Given the description of an element on the screen output the (x, y) to click on. 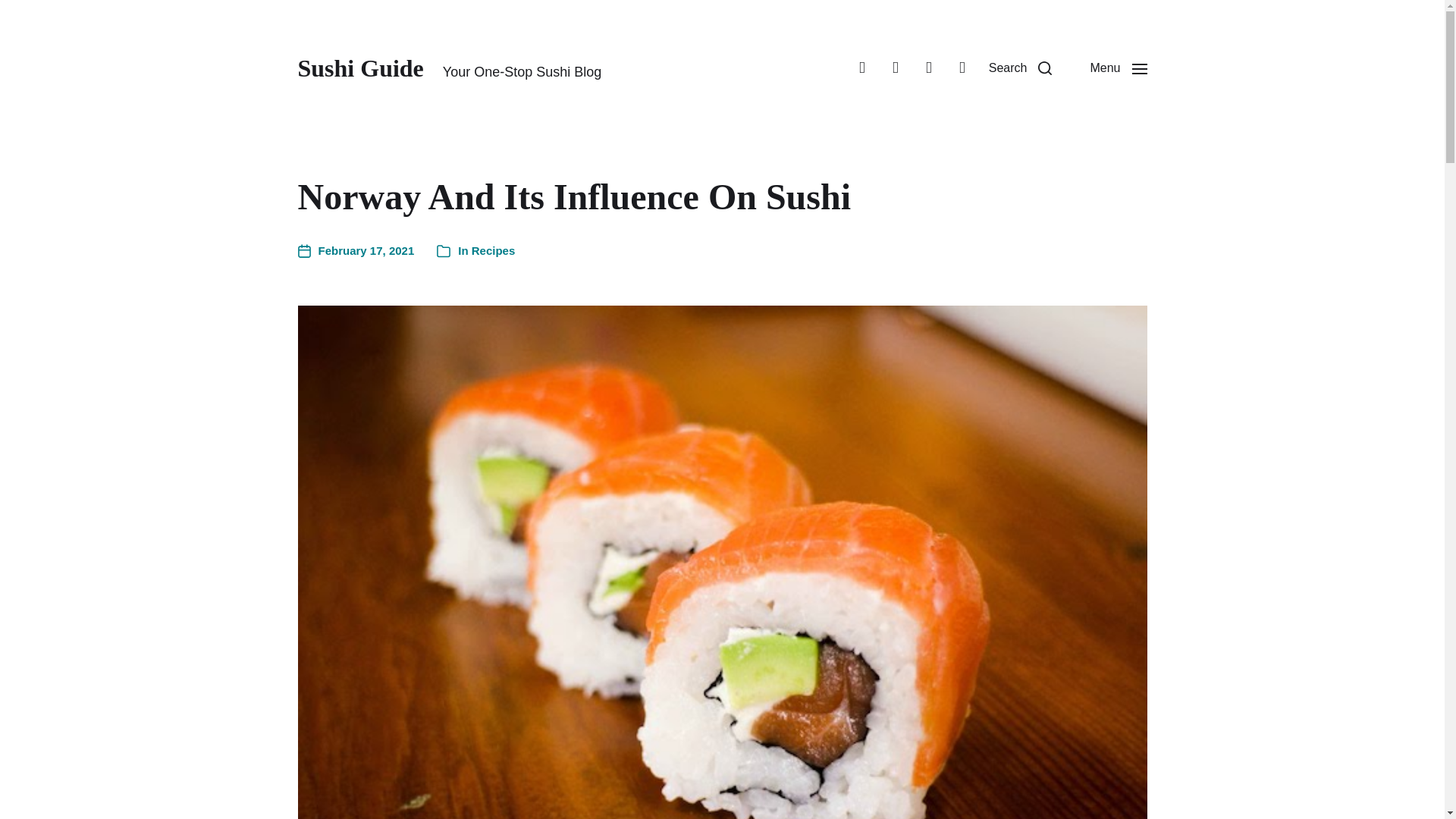
Sushi Guide (360, 68)
February 17, 2021 (355, 251)
Recipes (493, 250)
Menu (1118, 68)
Search (1020, 68)
